Given the description of an element on the screen output the (x, y) to click on. 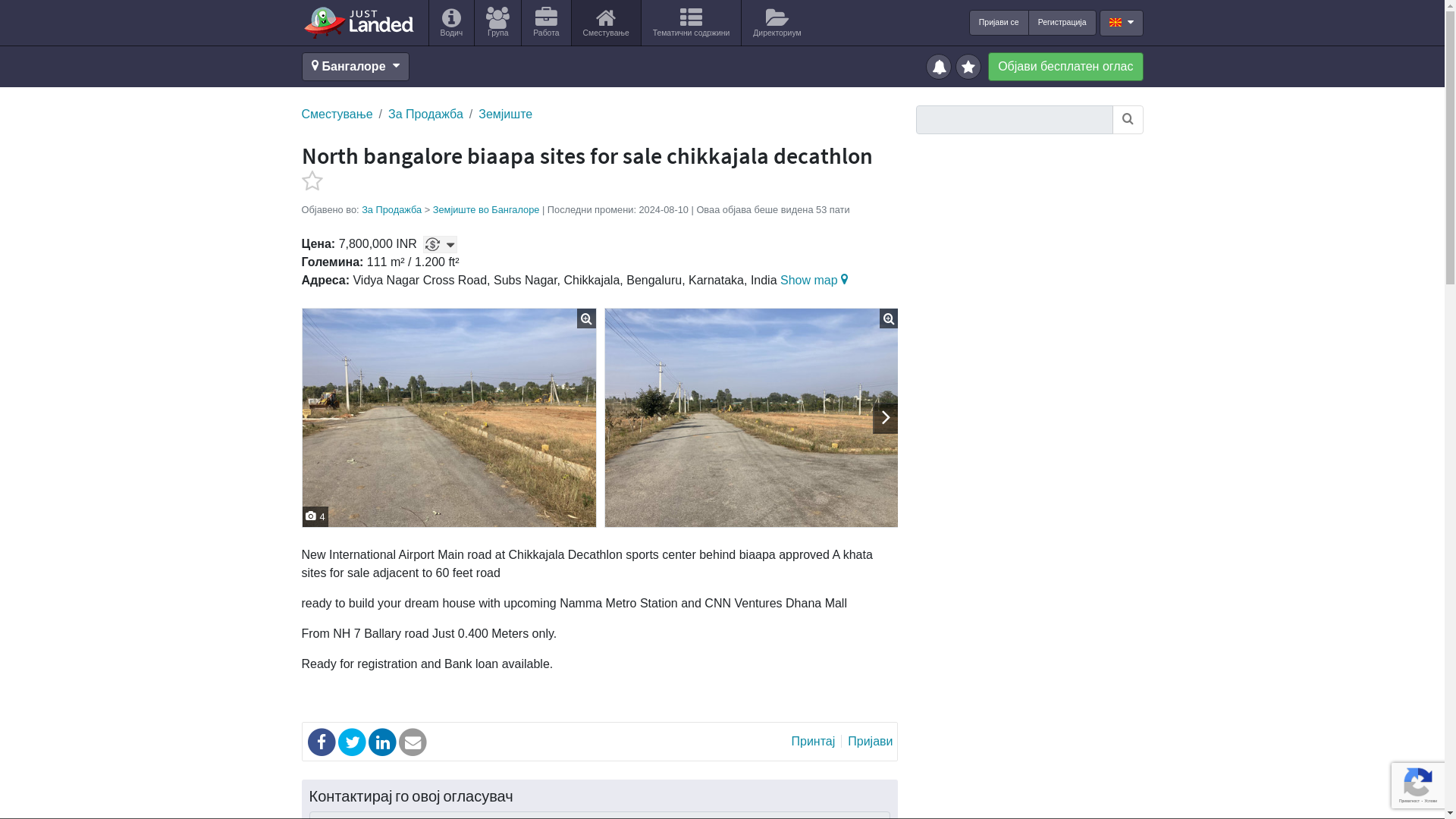
Alerts (940, 65)
Just Landed (357, 22)
Just Landed (357, 22)
Macedonian (1114, 22)
Show map (815, 279)
